Given the description of an element on the screen output the (x, y) to click on. 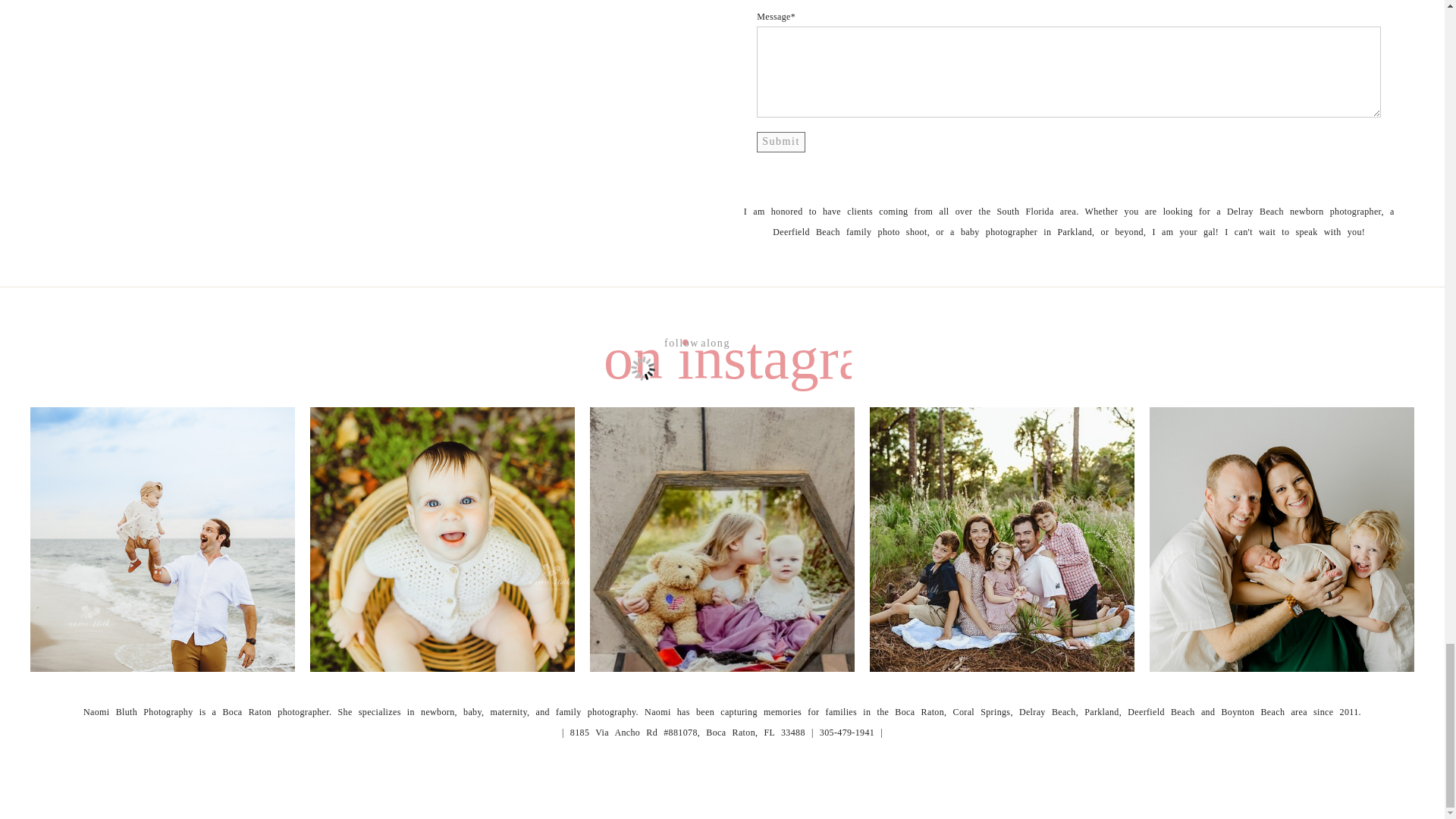
Submit (781, 141)
